Given the description of an element on the screen output the (x, y) to click on. 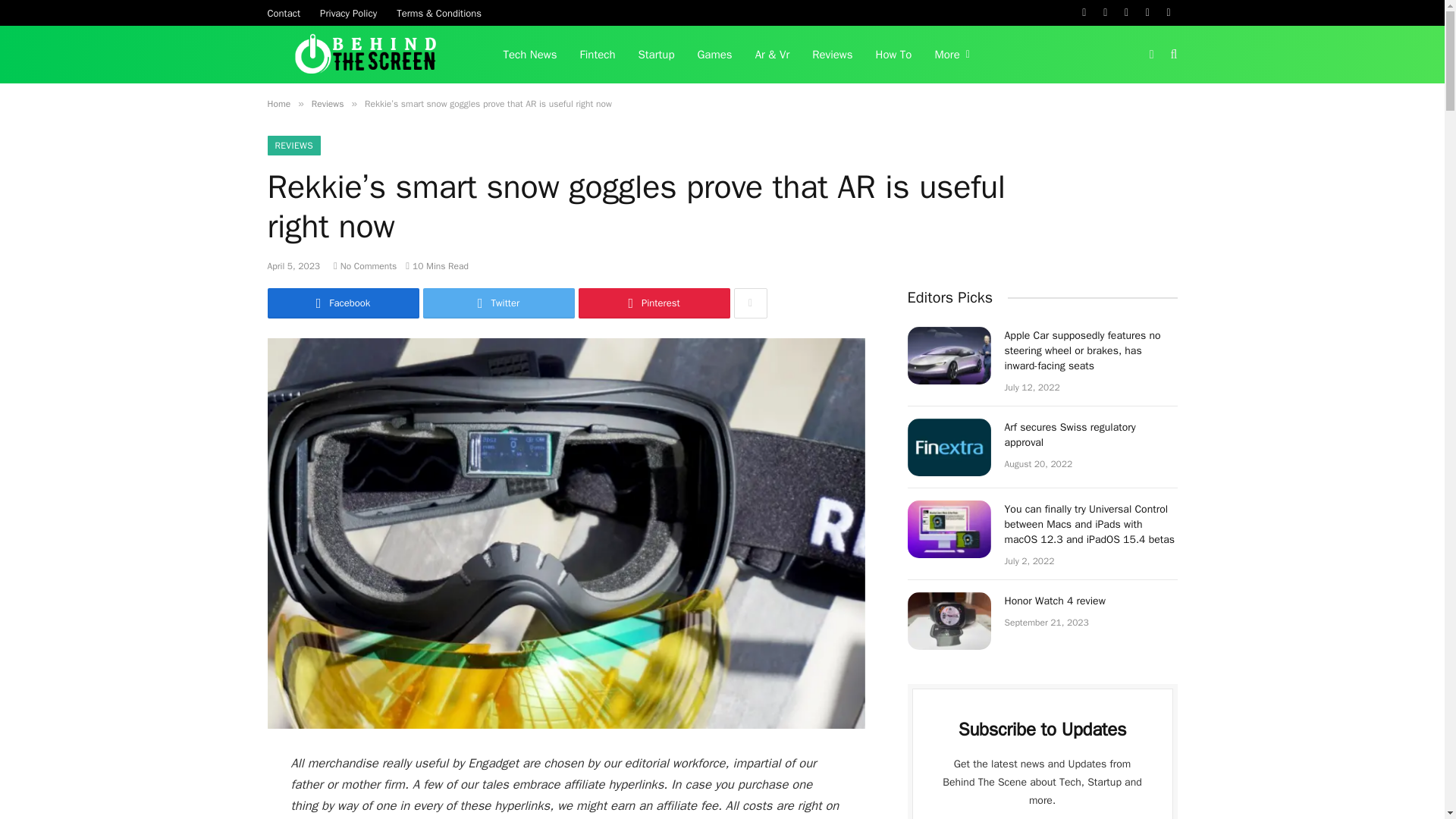
Reviews (831, 54)
Share on Facebook (342, 303)
Privacy Policy (348, 12)
Tech News (529, 54)
Behind The Screen (365, 54)
Contact (284, 12)
Share on Pinterest (653, 303)
More (951, 54)
Games (713, 54)
How To (893, 54)
Fintech (598, 54)
Switch to Dark Design - easier on eyes. (1151, 54)
Startup (656, 54)
Share on Twitter (499, 303)
